Given the description of an element on the screen output the (x, y) to click on. 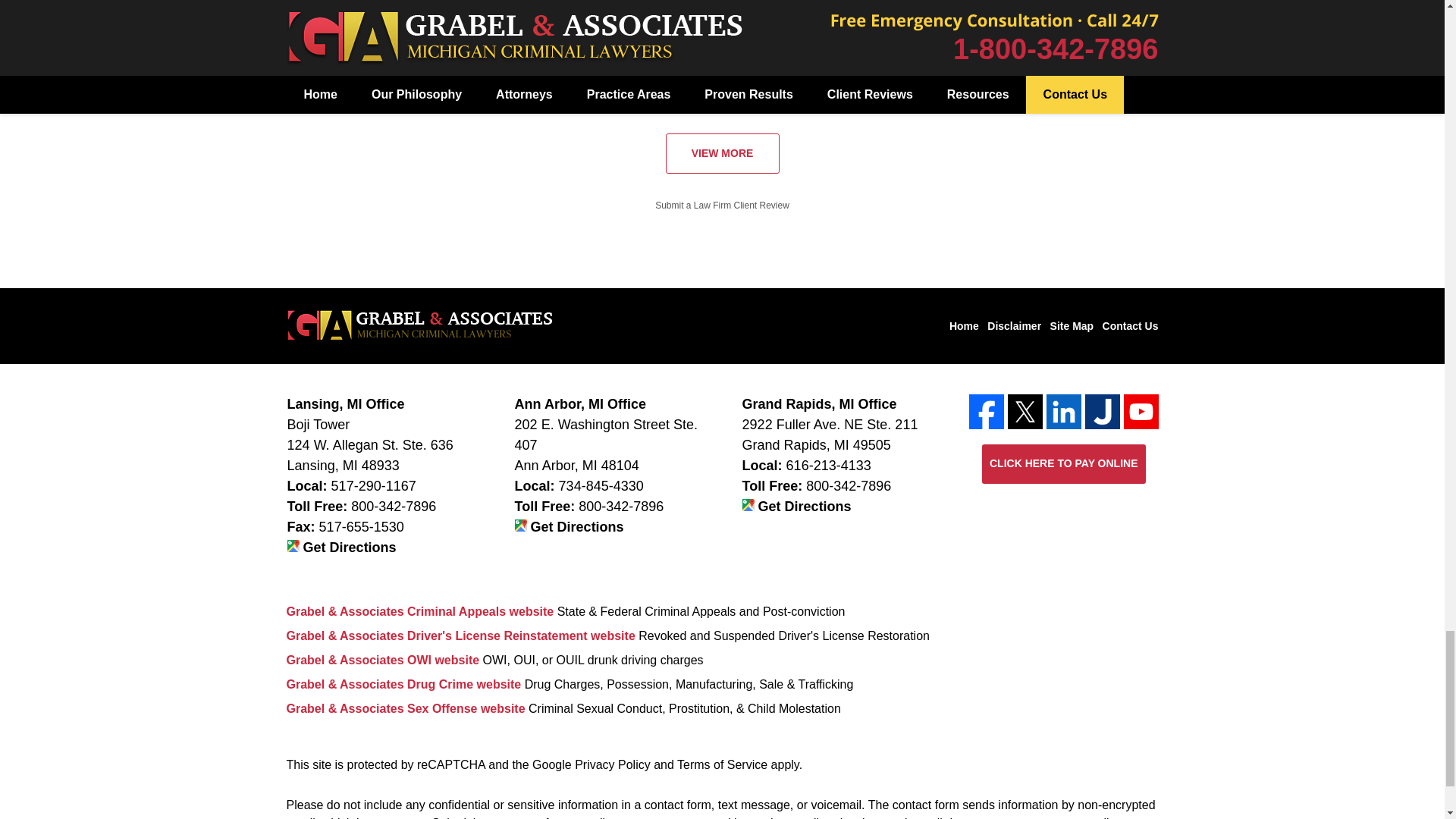
LinkedIn (1063, 411)
YouTube (1141, 411)
Justia (1101, 411)
Twitter (1024, 411)
Facebook (986, 411)
